Given the description of an element on the screen output the (x, y) to click on. 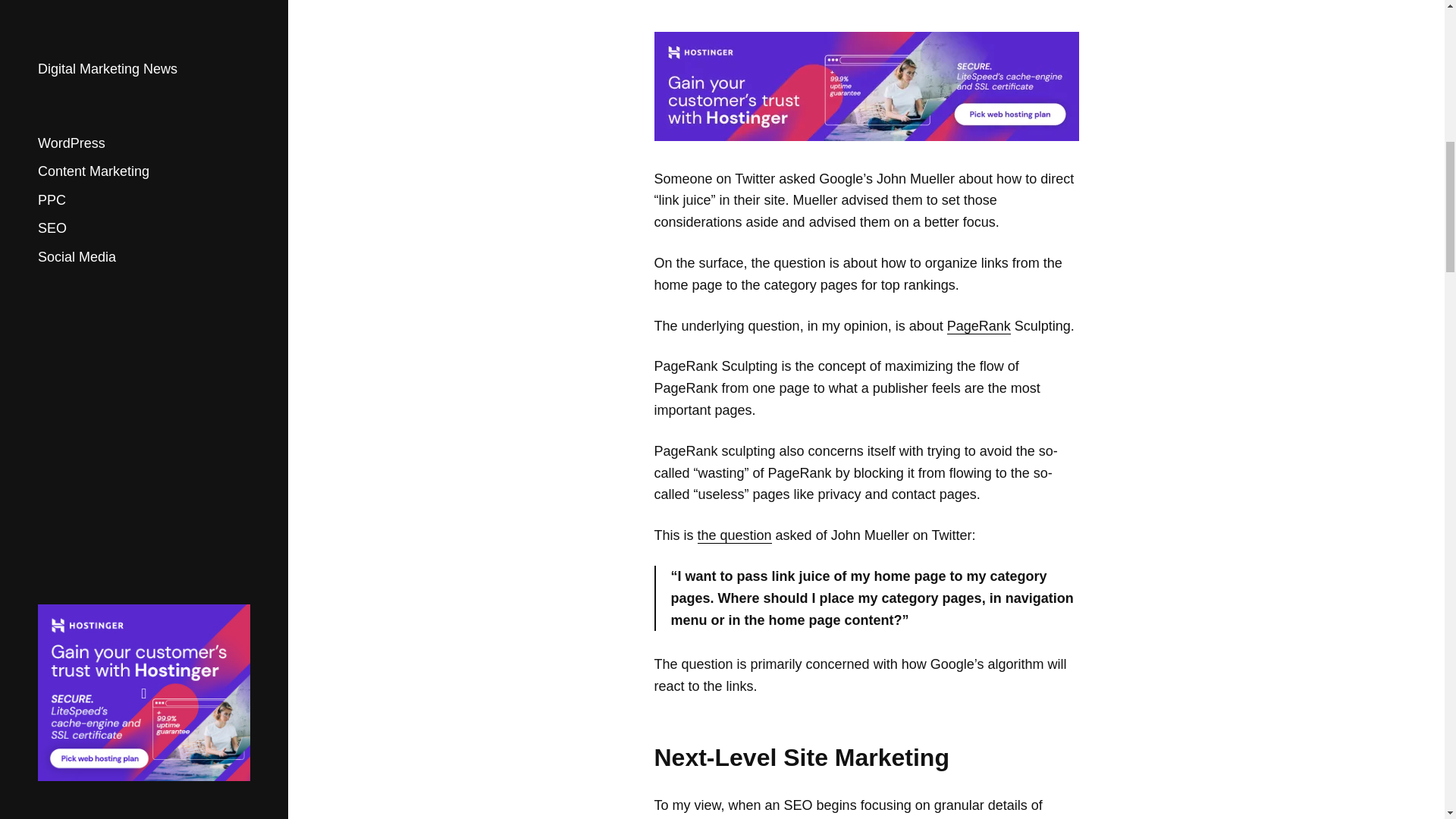
the question (734, 535)
PageRank (978, 326)
